Given the description of an element on the screen output the (x, y) to click on. 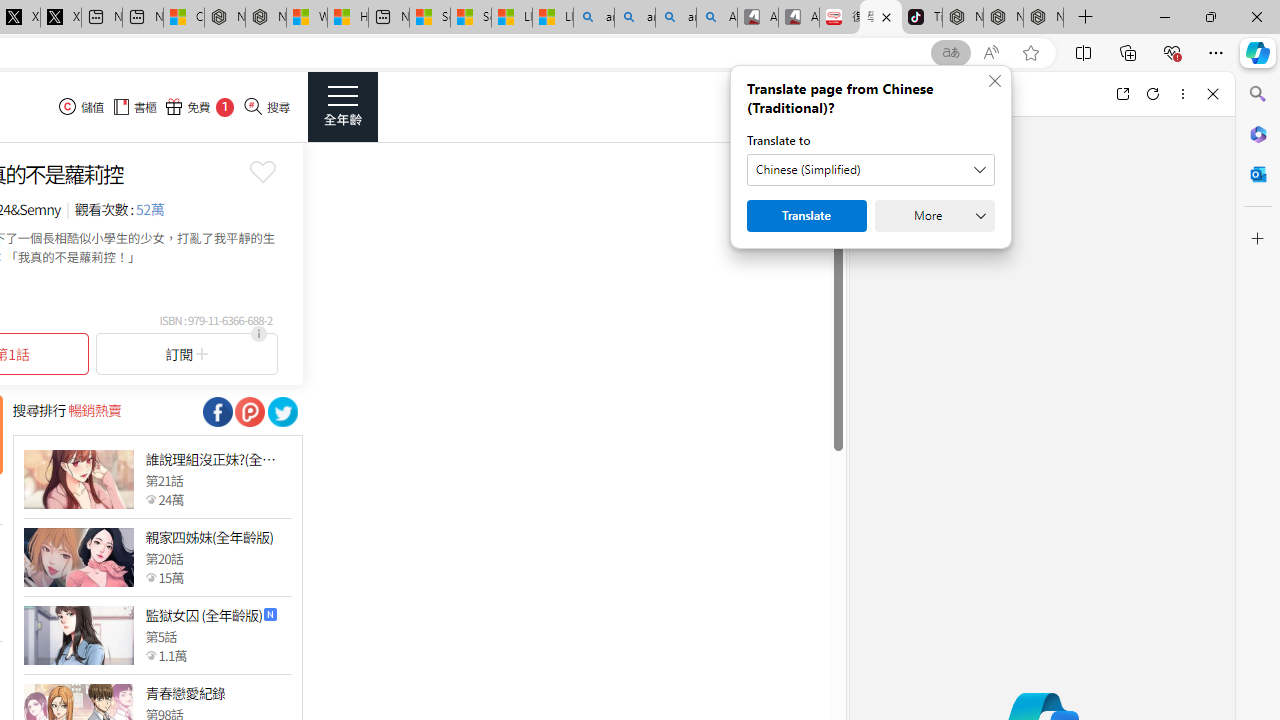
Class: side_menu_btn actionRightMenuBtn (342, 106)
amazon - Search Images (675, 17)
Class: thumb_img (78, 634)
Outlook (1258, 174)
Class: epicon_starpoint (150, 655)
